Given the description of an element on the screen output the (x, y) to click on. 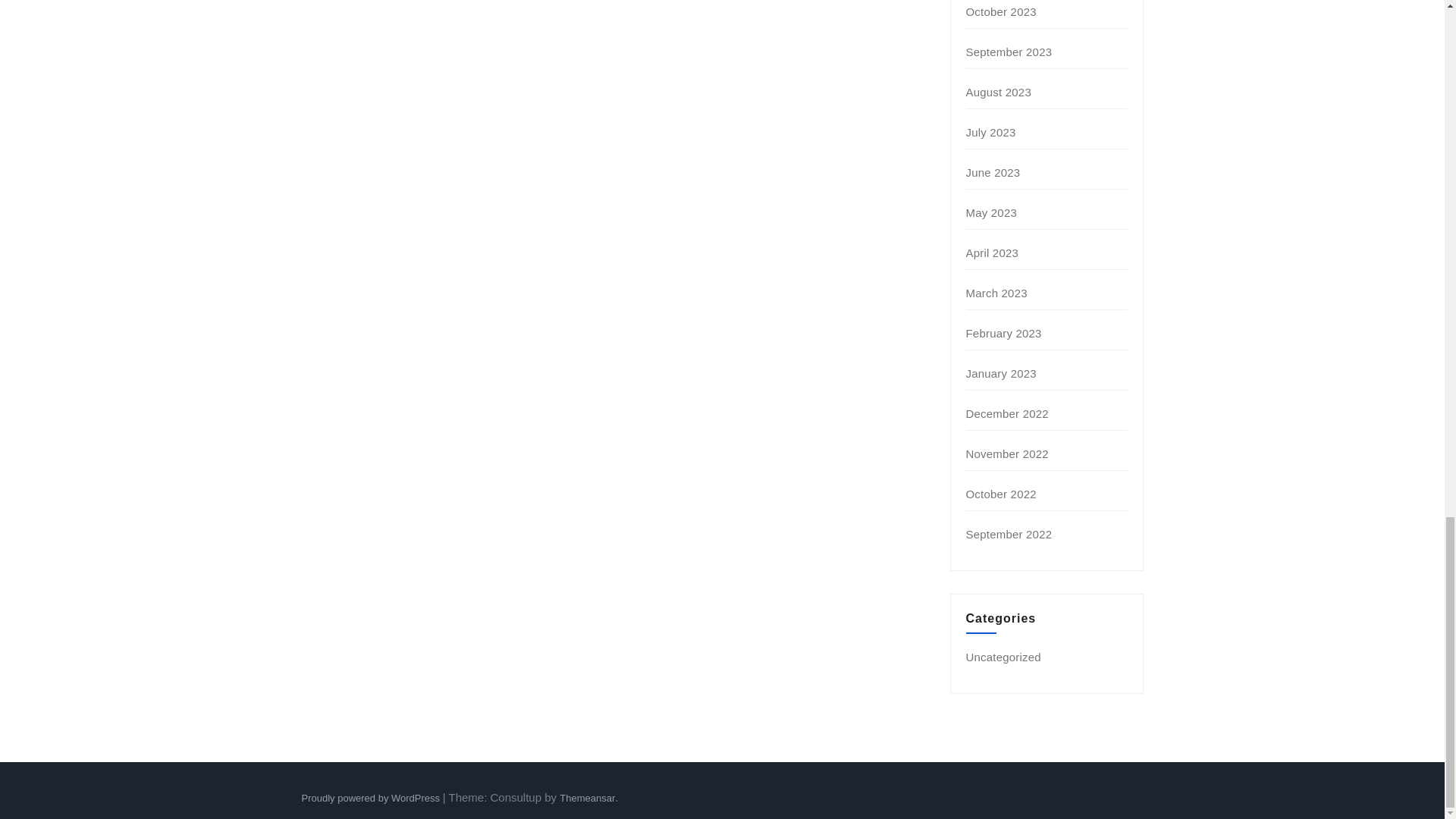
October 2023 (1001, 11)
March 2023 (996, 292)
July 2023 (991, 132)
September 2023 (1009, 51)
April 2023 (992, 252)
June 2023 (993, 172)
August 2023 (998, 91)
February 2023 (1004, 332)
May 2023 (991, 212)
